Given the description of an element on the screen output the (x, y) to click on. 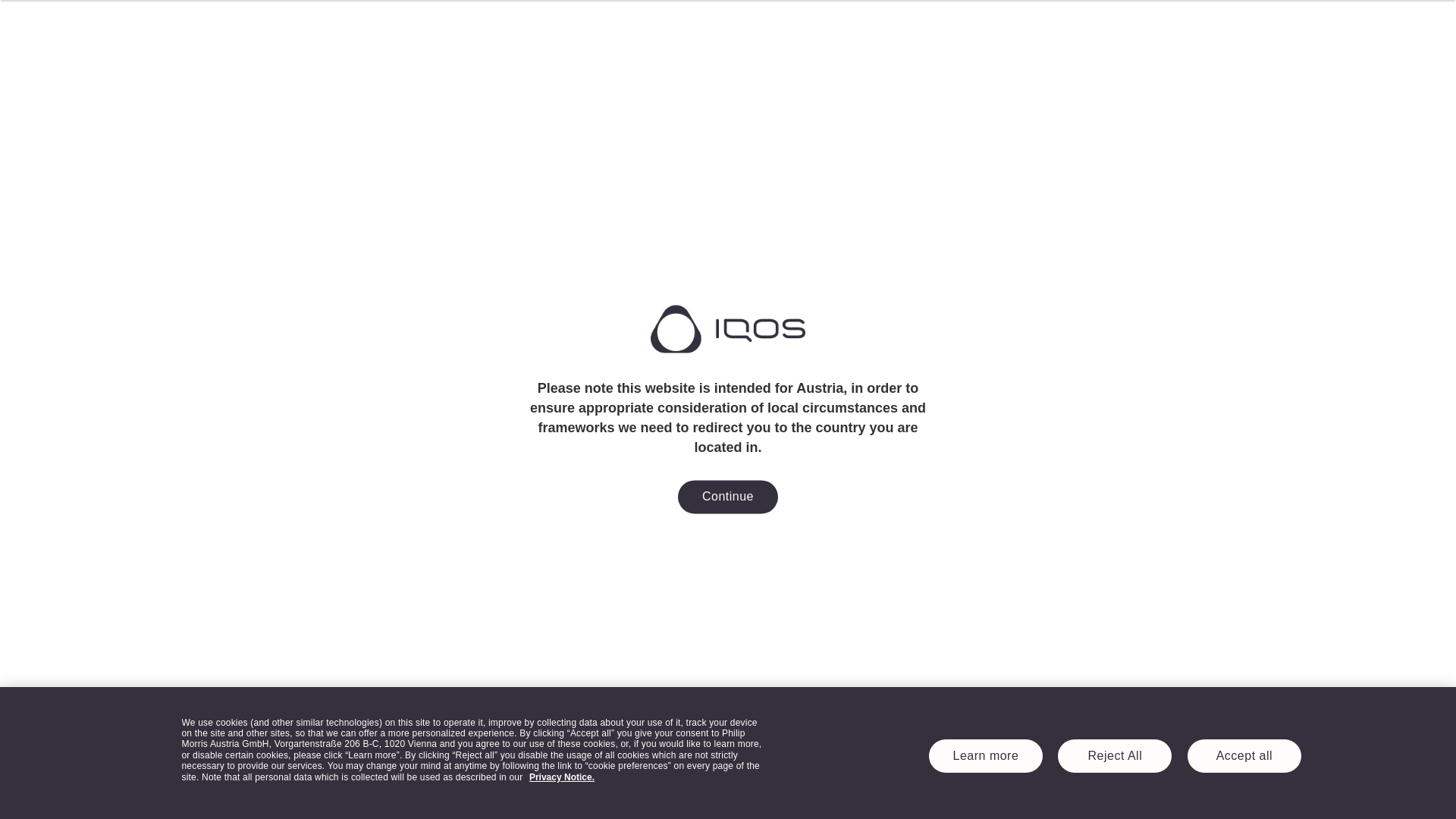
Continue (727, 497)
iQOS Start (727, 28)
Discover IQOS (323, 28)
Cart (1208, 27)
Shop (243, 28)
Confirm (727, 429)
